Given the description of an element on the screen output the (x, y) to click on. 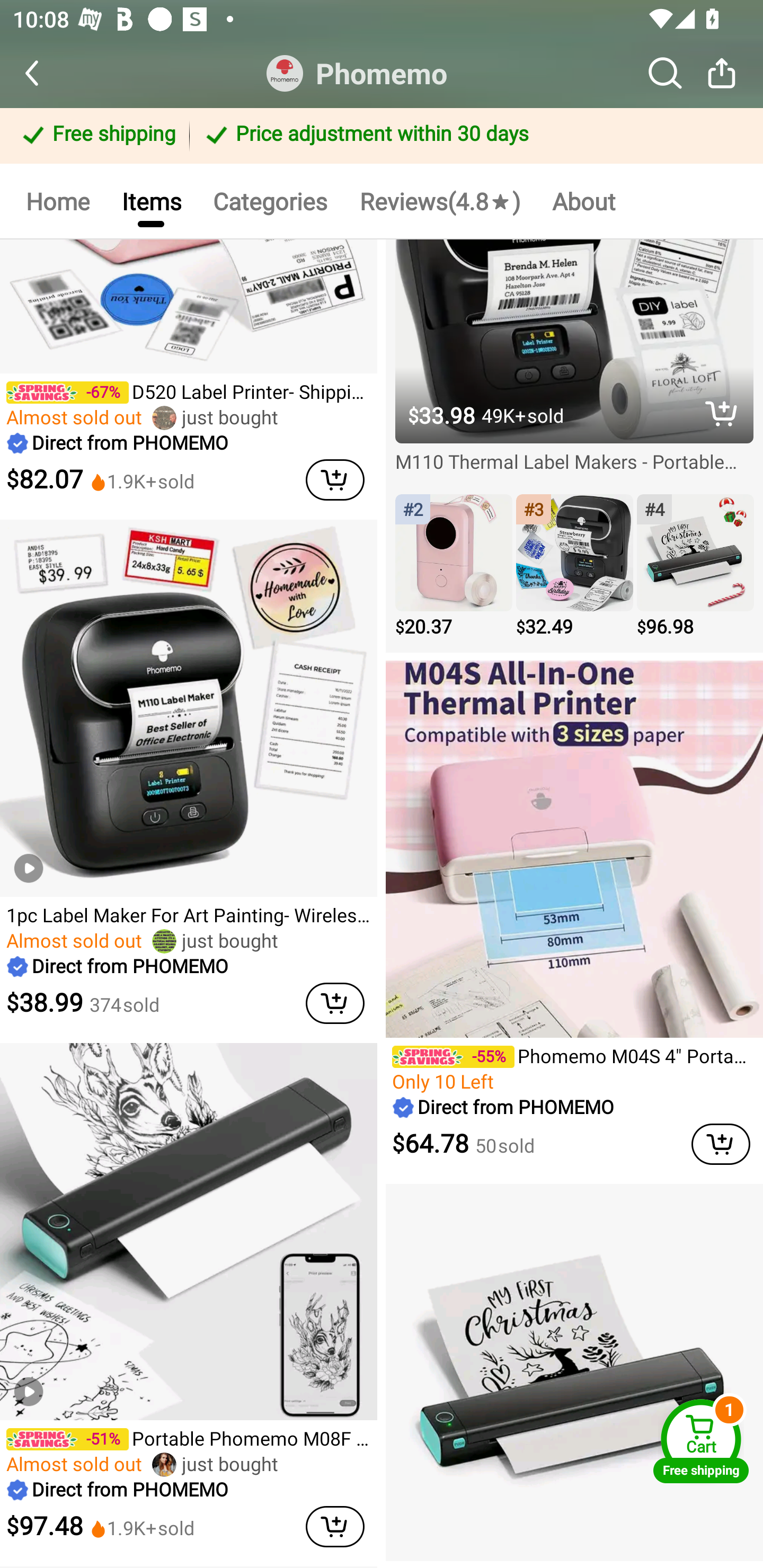
back (47, 72)
share (721, 72)
Free shipping (97, 135)
Price adjustment within 30 days (472, 135)
Home (57, 200)
Items (150, 200)
Categories (269, 200)
Reviews(4.8 ) (439, 200)
About (583, 200)
delete (721, 412)
cart delete (334, 479)
#2 $20.37 (453, 566)
#3 $32.49 (574, 566)
#4 $96.98 (695, 566)
cart delete (334, 1003)
cart delete (720, 1144)
Cart Free shipping Cart (701, 1440)
cart delete (334, 1526)
